Given the description of an element on the screen output the (x, y) to click on. 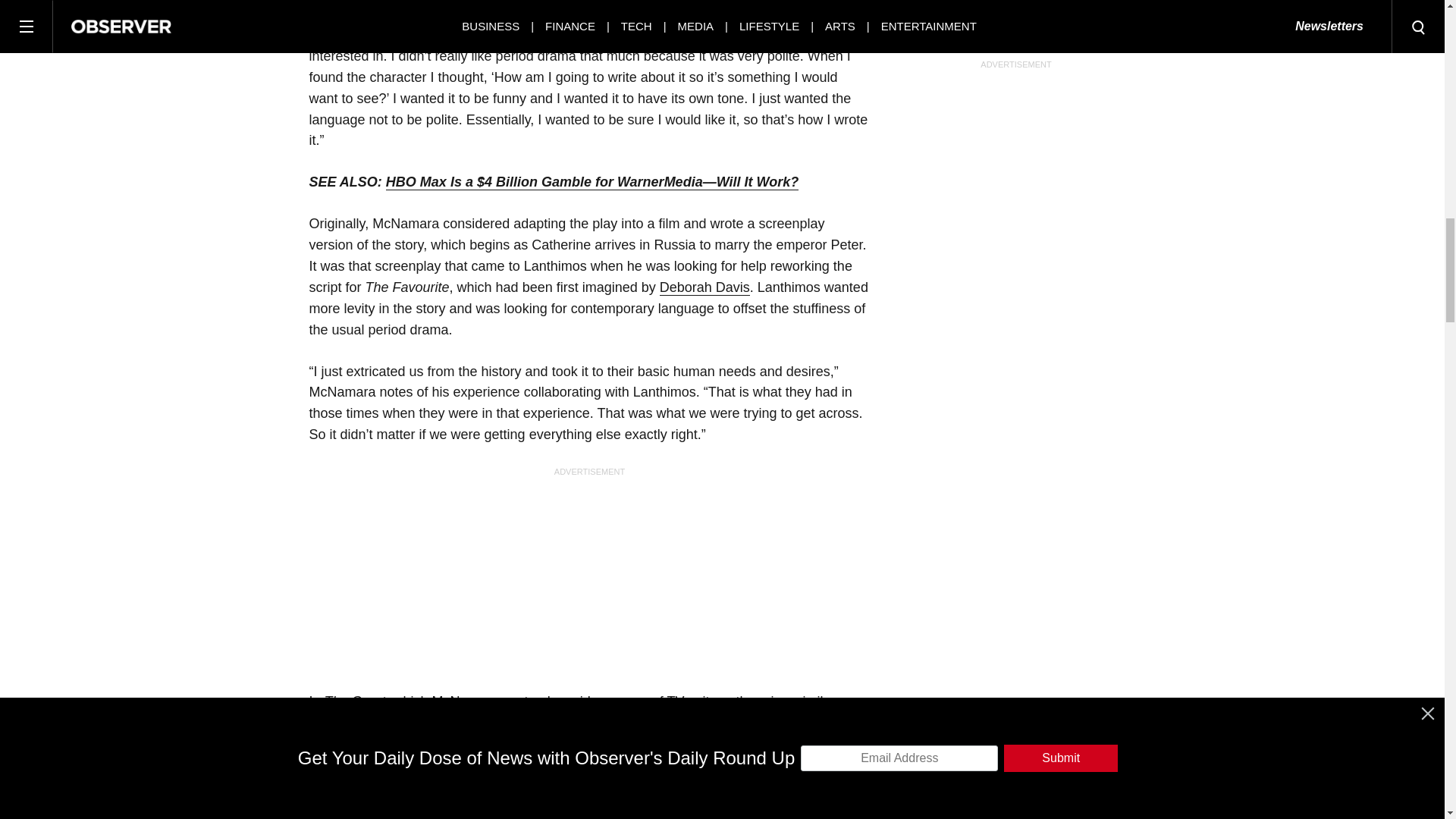
Nicholas Hoult (370, 765)
Elle Fanning (480, 786)
Deborah Davis (704, 287)
